Given the description of an element on the screen output the (x, y) to click on. 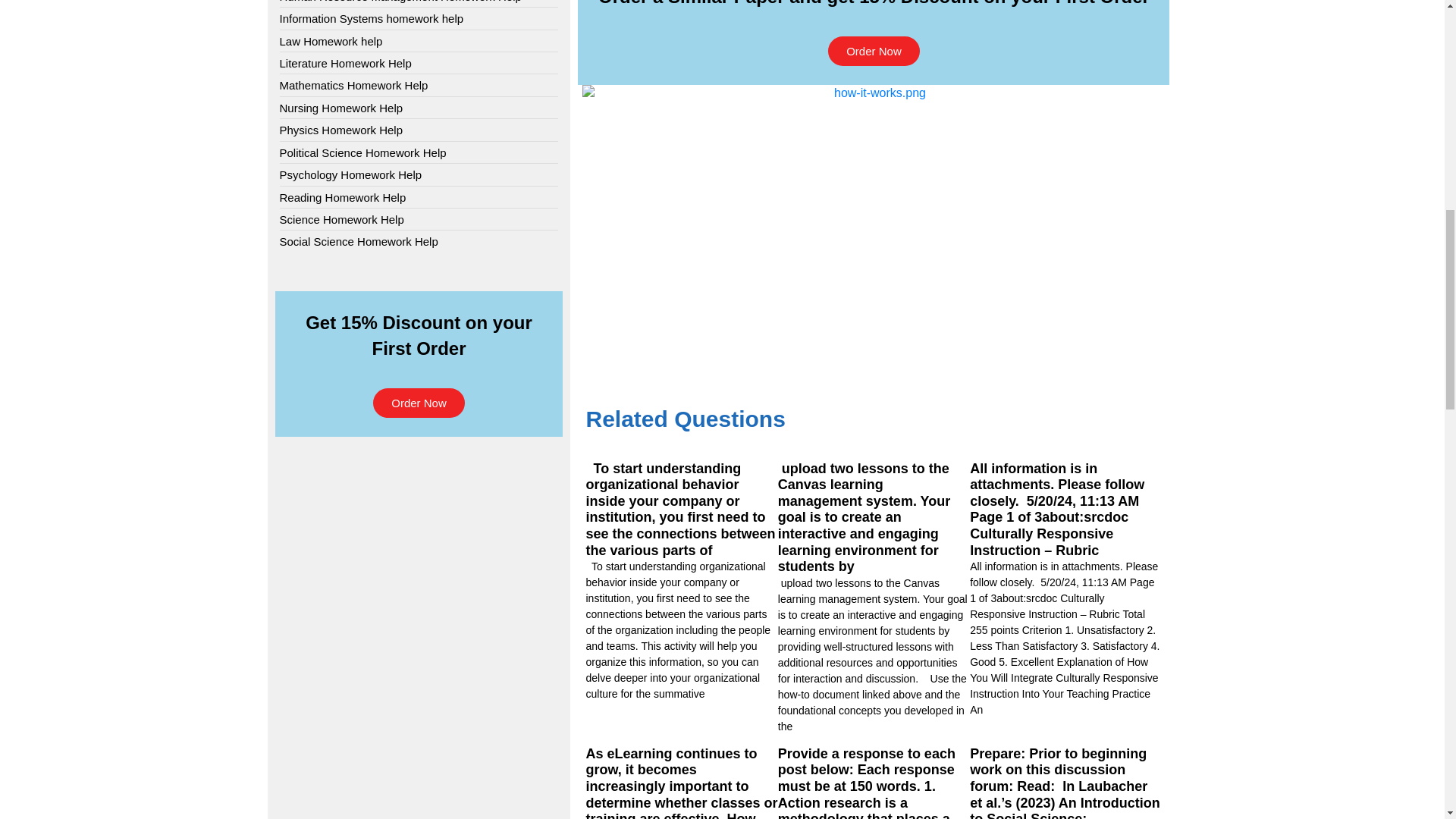
Human Resource Management Homework Help (400, 2)
Law Homework help (330, 41)
Literature Homework Help (344, 63)
Information Systems homework help (371, 18)
Mathematics Homework Help (353, 84)
